Given the description of an element on the screen output the (x, y) to click on. 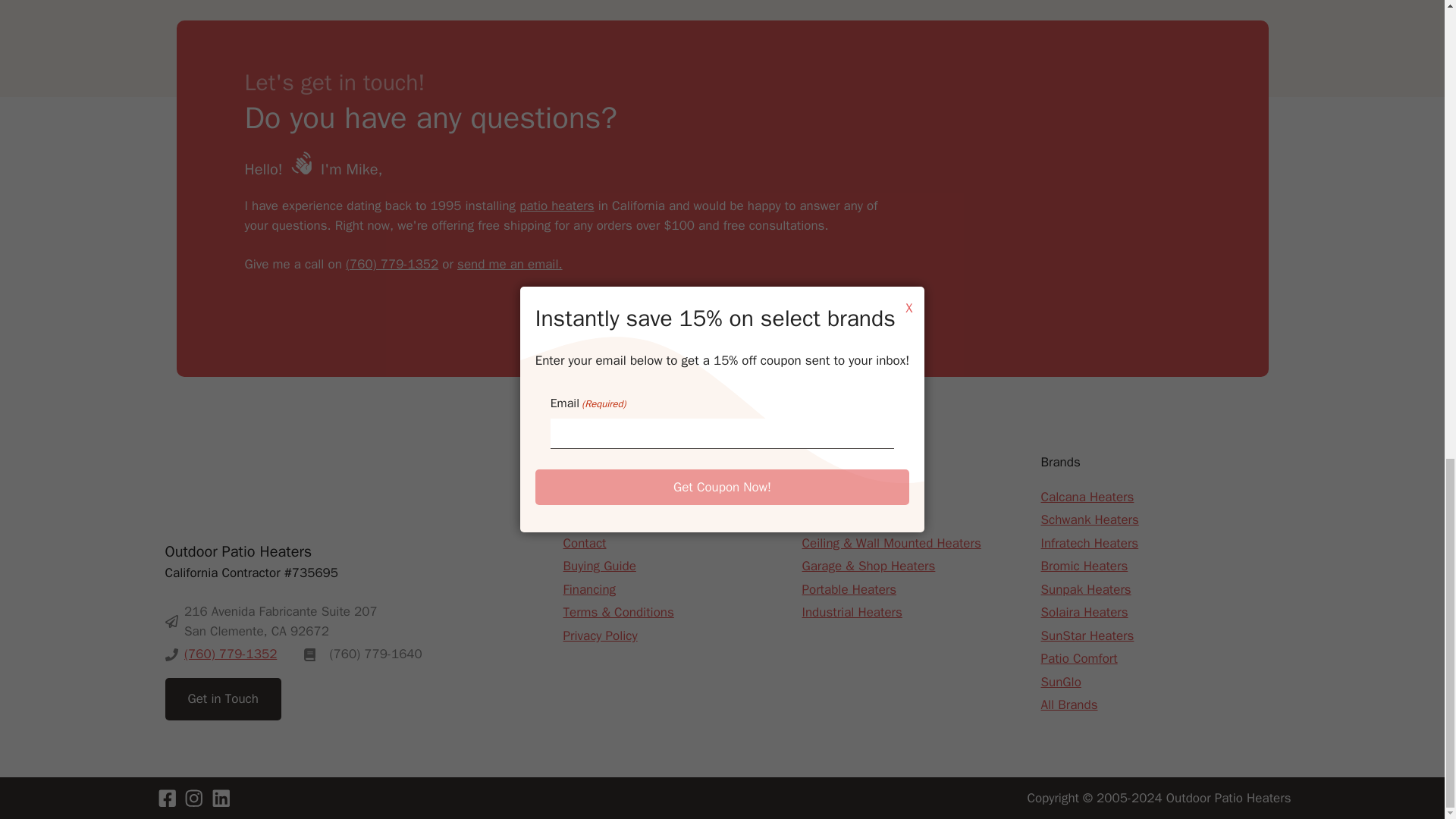
logo-edited-2023 (241, 488)
MikePhoto (1096, 198)
